Given the description of an element on the screen output the (x, y) to click on. 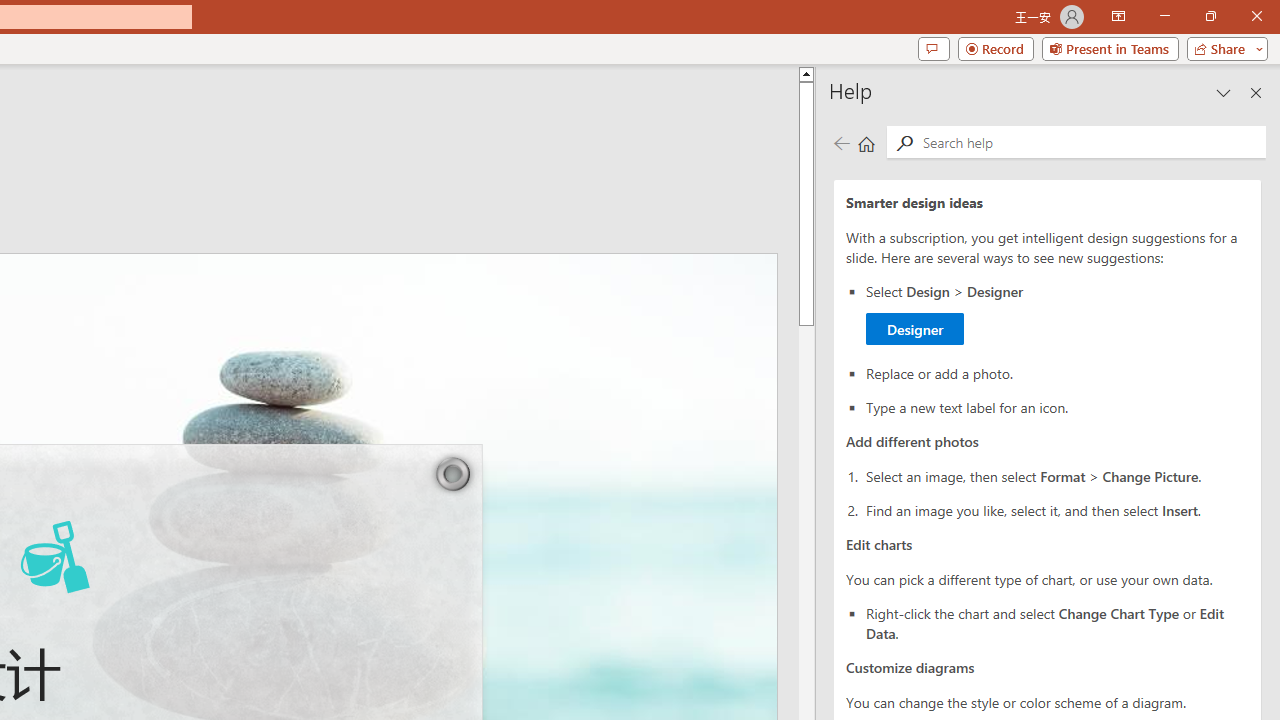
Find an image you like, select it, and then select Insert. (1057, 509)
Replace or add a photo. (1057, 314)
Previous page (1057, 372)
